Given the description of an element on the screen output the (x, y) to click on. 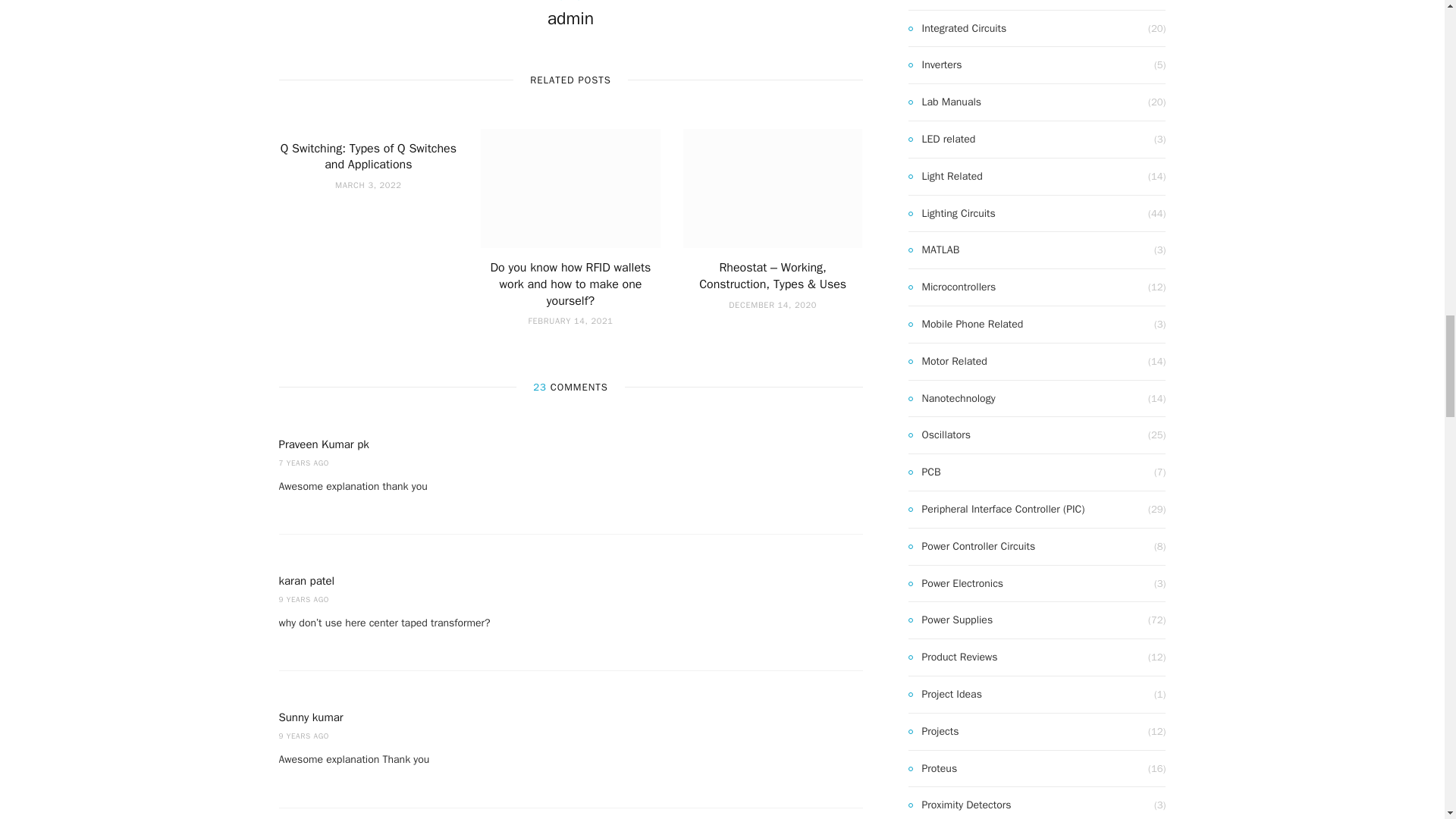
7 YEARS AGO (304, 462)
admin (570, 18)
DECEMBER 14, 2020 (772, 304)
9 YEARS AGO (304, 599)
FEBRUARY 14, 2021 (570, 320)
Posts by admin (570, 18)
9 YEARS AGO (304, 736)
Q Switching: Types of Q Switches and Applications (369, 156)
MARCH 3, 2022 (367, 184)
